Given the description of an element on the screen output the (x, y) to click on. 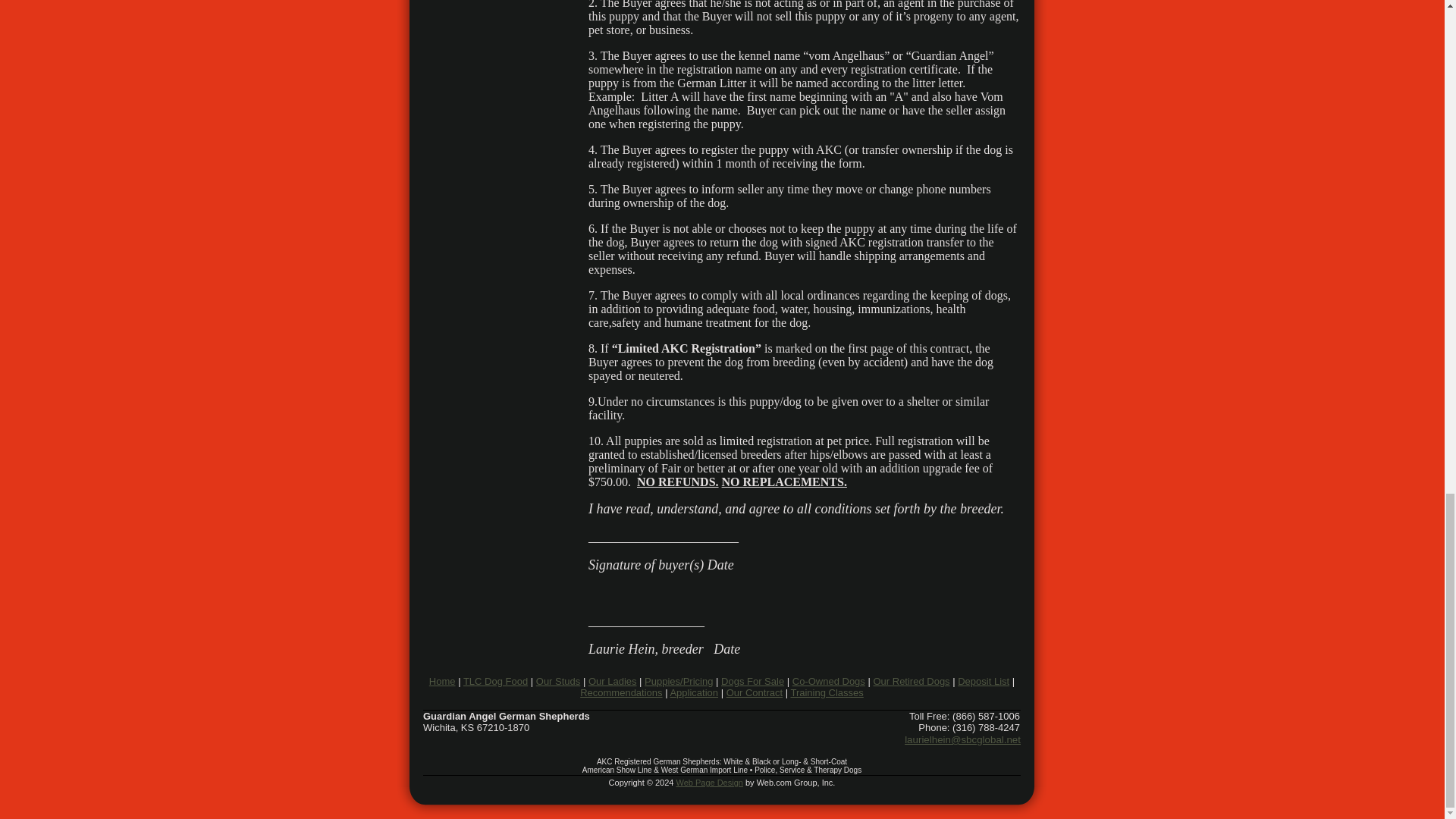
Our Ladies (612, 681)
Application (693, 692)
Co-Owned Dogs (828, 681)
Deposit List (983, 681)
Home (442, 681)
Our Studs (557, 681)
Dogs For Sale (752, 681)
Training Classes (826, 692)
Our Retired Dogs (910, 681)
Our Contract (754, 692)
Recommendations (620, 692)
TLC Dog Food (495, 681)
